Given the description of an element on the screen output the (x, y) to click on. 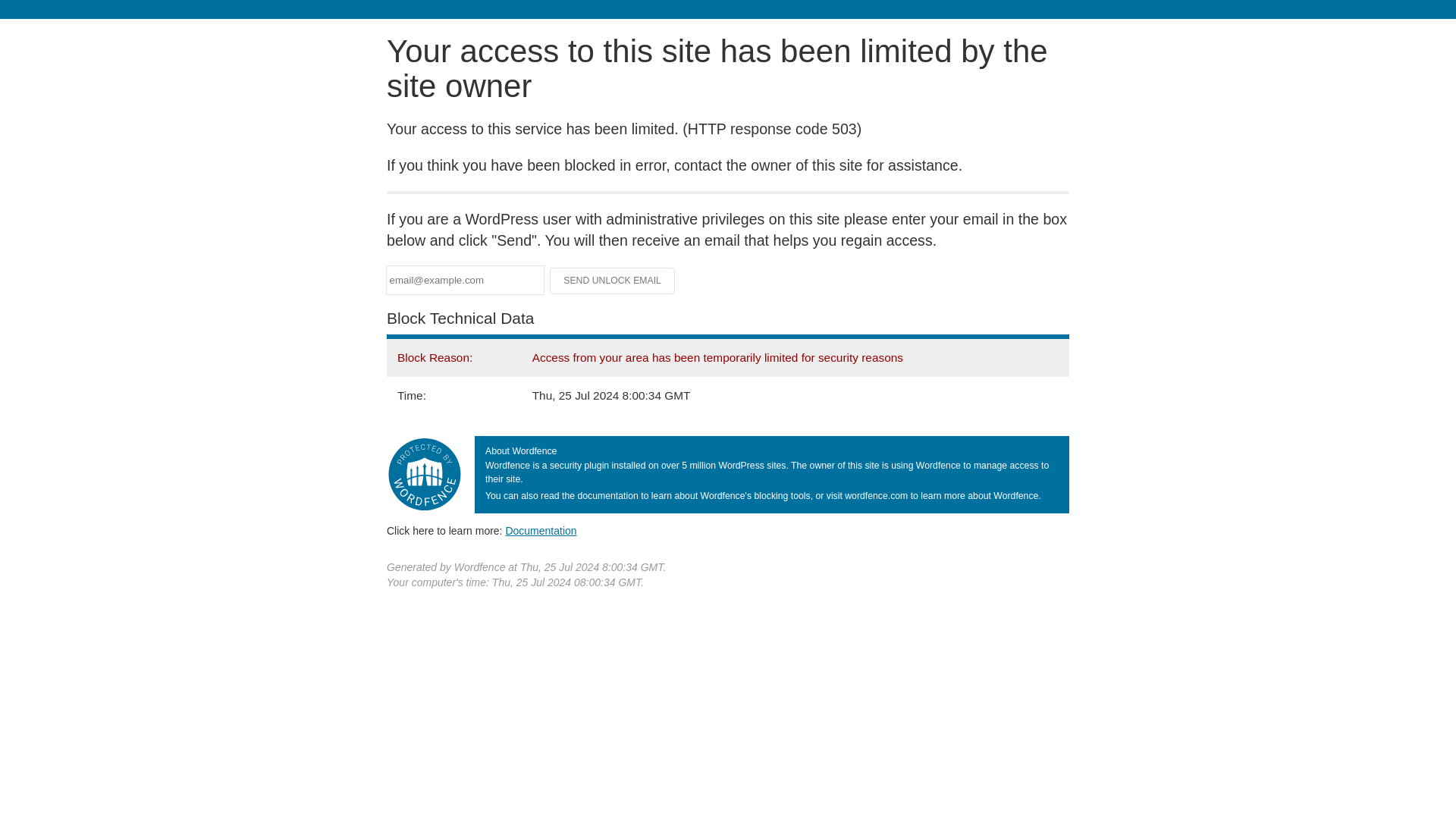
Send Unlock Email (612, 280)
Send Unlock Email (612, 280)
